Given the description of an element on the screen output the (x, y) to click on. 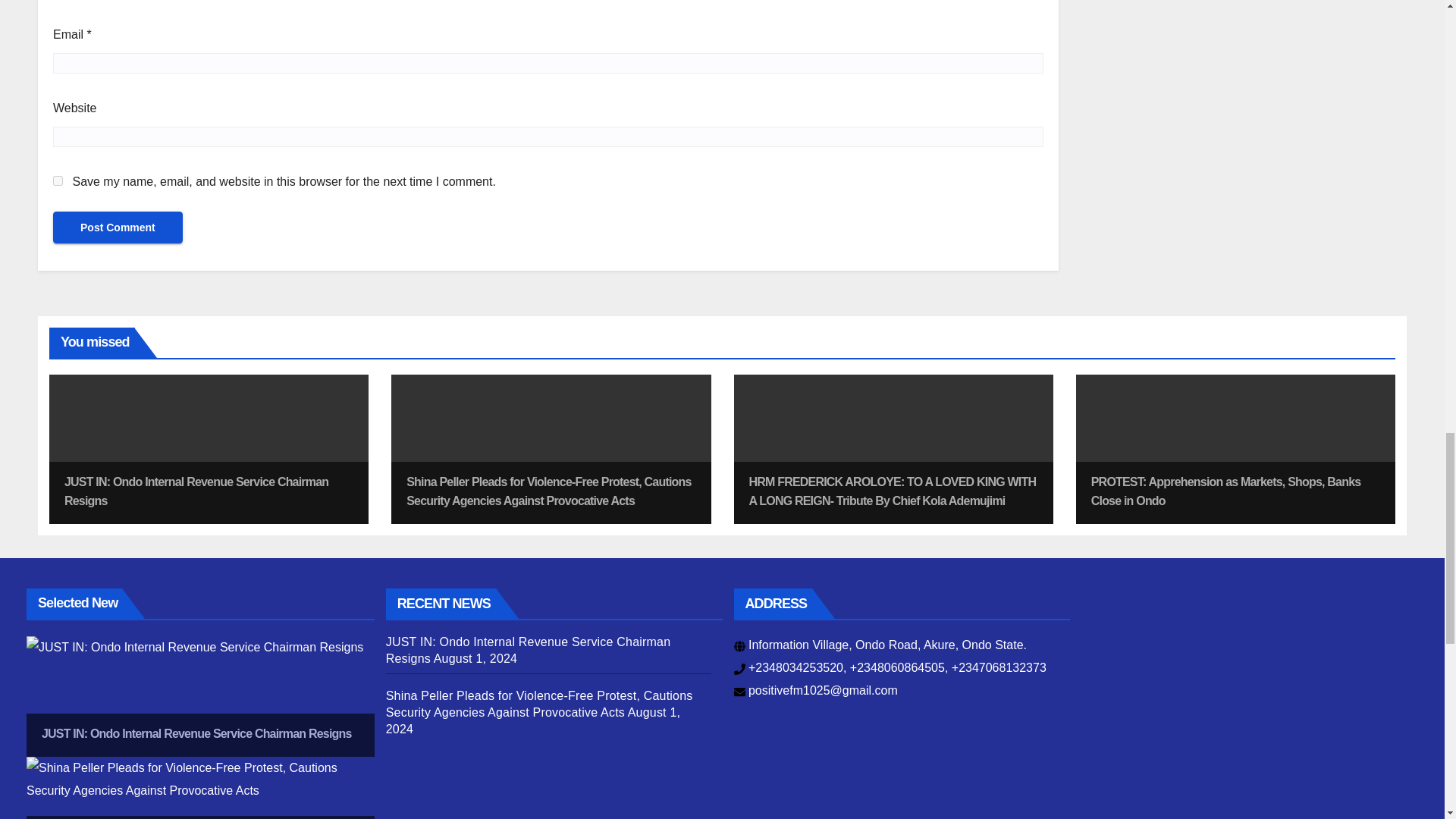
Post Comment (117, 585)
yes (57, 538)
